Given the description of an element on the screen output the (x, y) to click on. 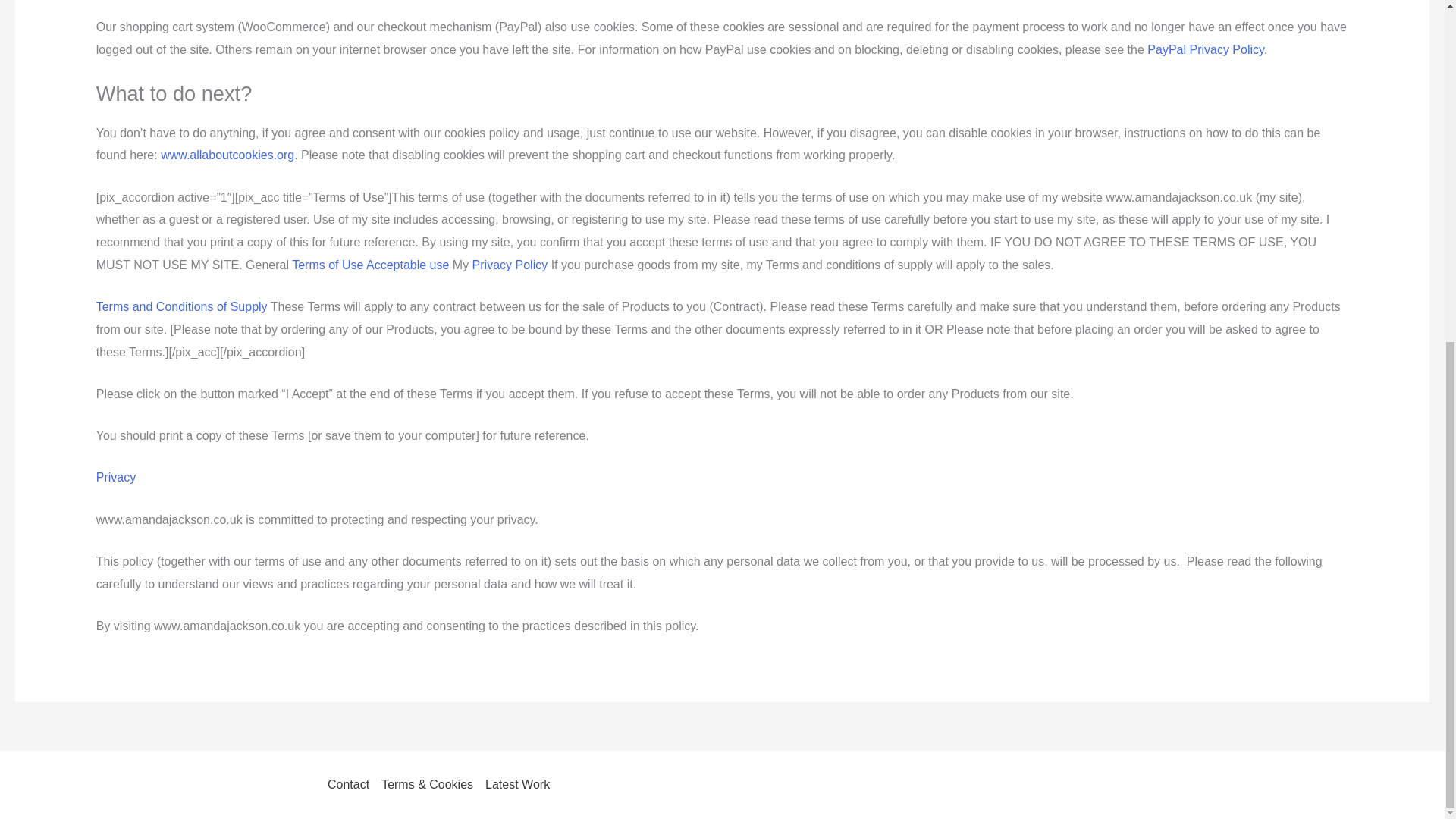
Privacy Policy (509, 264)
Terms and Conditions of Supply (181, 306)
PayPal Privacy Policy (1205, 49)
Terms of Use (327, 264)
Terms and Conditions of Supply (181, 306)
Privacy Policy (115, 477)
Privacy Policy (509, 264)
Contact (351, 784)
Privacy (115, 477)
Terms of Use (327, 264)
